Given the description of an element on the screen output the (x, y) to click on. 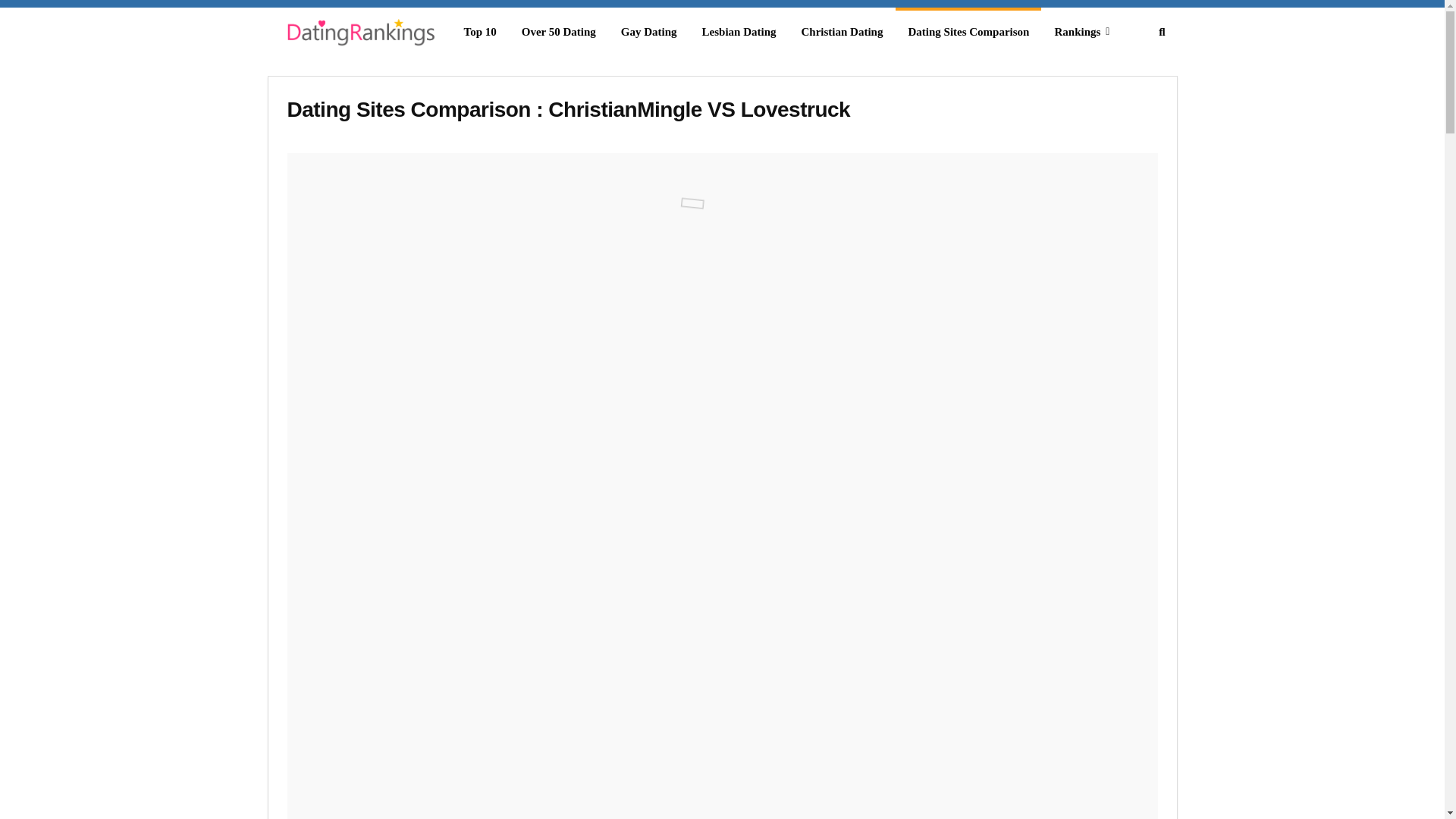
Gay Dating (648, 31)
Top 10 Best Online Dating Sites Rankings (357, 35)
Lesbian Dating (739, 31)
Christian Dating (842, 31)
Dating Sites Comparison (968, 31)
Rankings (1081, 31)
Over 50 Dating (558, 31)
Top 10 (479, 31)
